Given the description of an element on the screen output the (x, y) to click on. 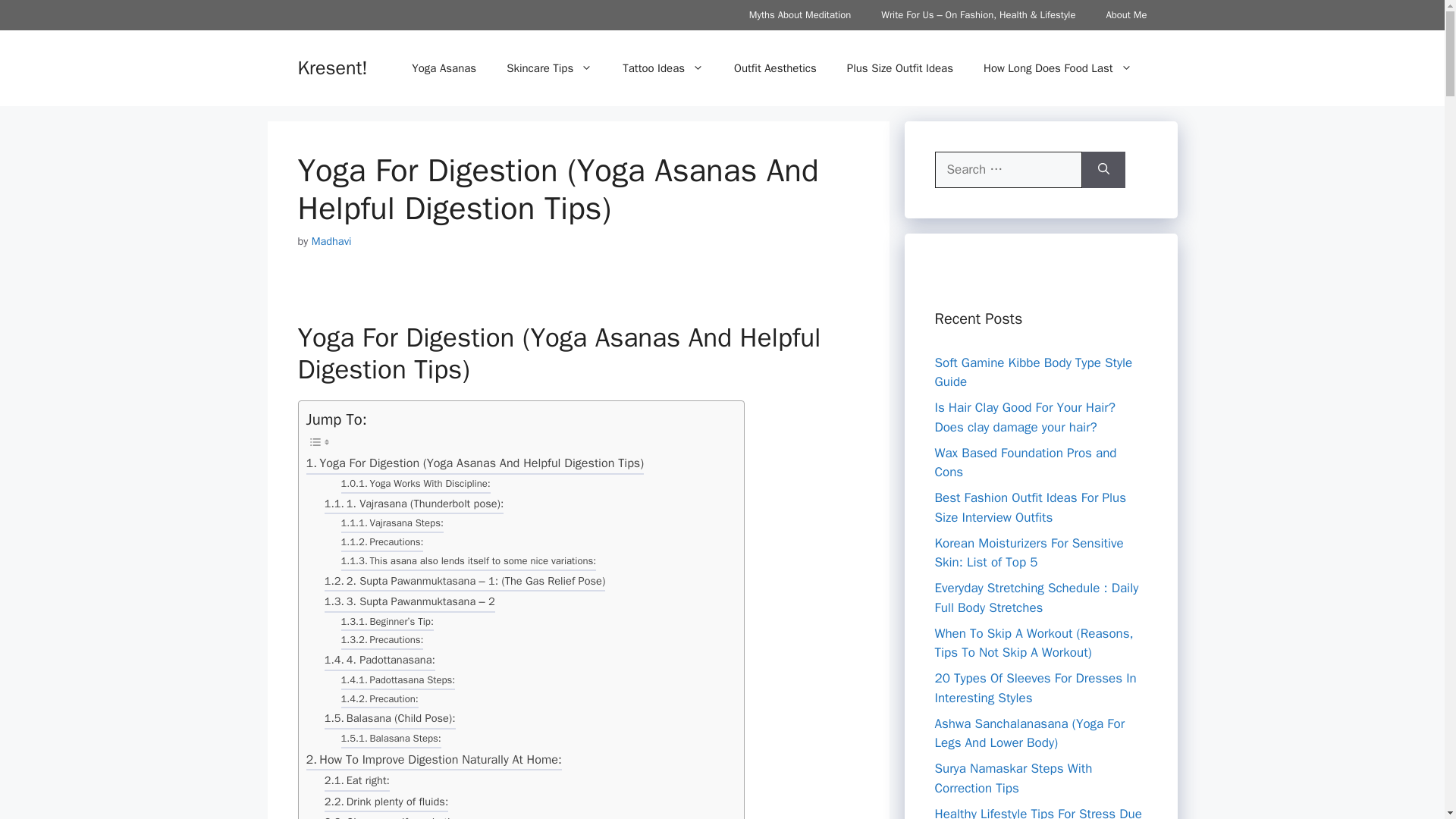
Kresent! (331, 67)
Tattoo Ideas (663, 67)
Precautions: (381, 543)
Myths About Meditation (799, 15)
Give yourself ample time: (396, 816)
Yoga Works With Discipline: (415, 485)
4. Padottanasana: (379, 661)
Drink plenty of fluids: (386, 803)
Vajrasana Steps: (392, 524)
Padottasana Steps: (397, 681)
